Given the description of an element on the screen output the (x, y) to click on. 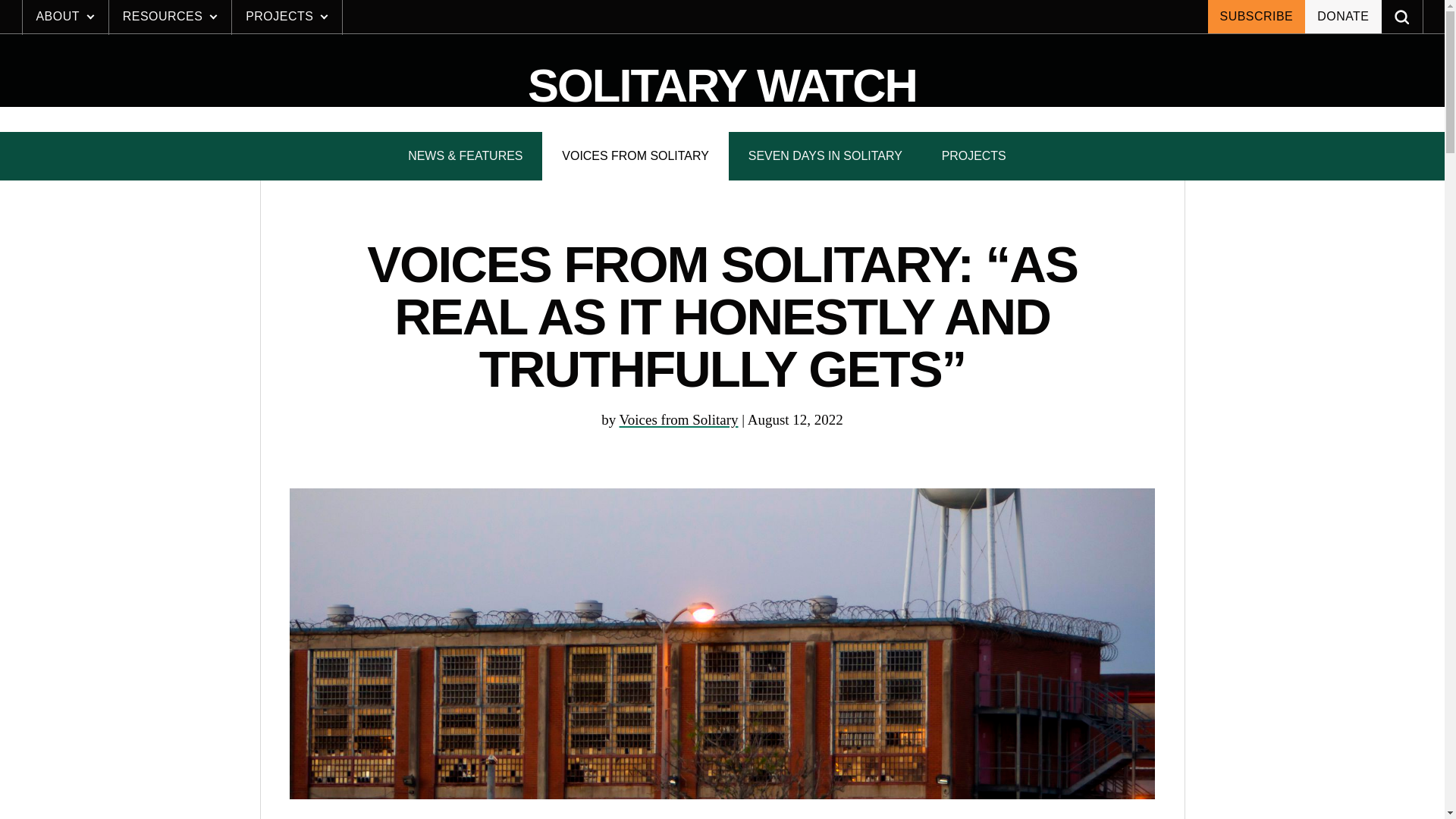
PROJECTS (973, 155)
VOICES FROM SOLITARY (634, 155)
RESOURCES (170, 17)
SOLITARY WATCH (614, 17)
Voices from Solitary (721, 86)
ABOUT (679, 419)
DONATE (65, 17)
SEVEN DAYS IN SOLITARY (1342, 16)
SUBSCRIBE (825, 155)
Posts by Voices from Solitary (1255, 16)
PROJECTS (679, 419)
